Given the description of an element on the screen output the (x, y) to click on. 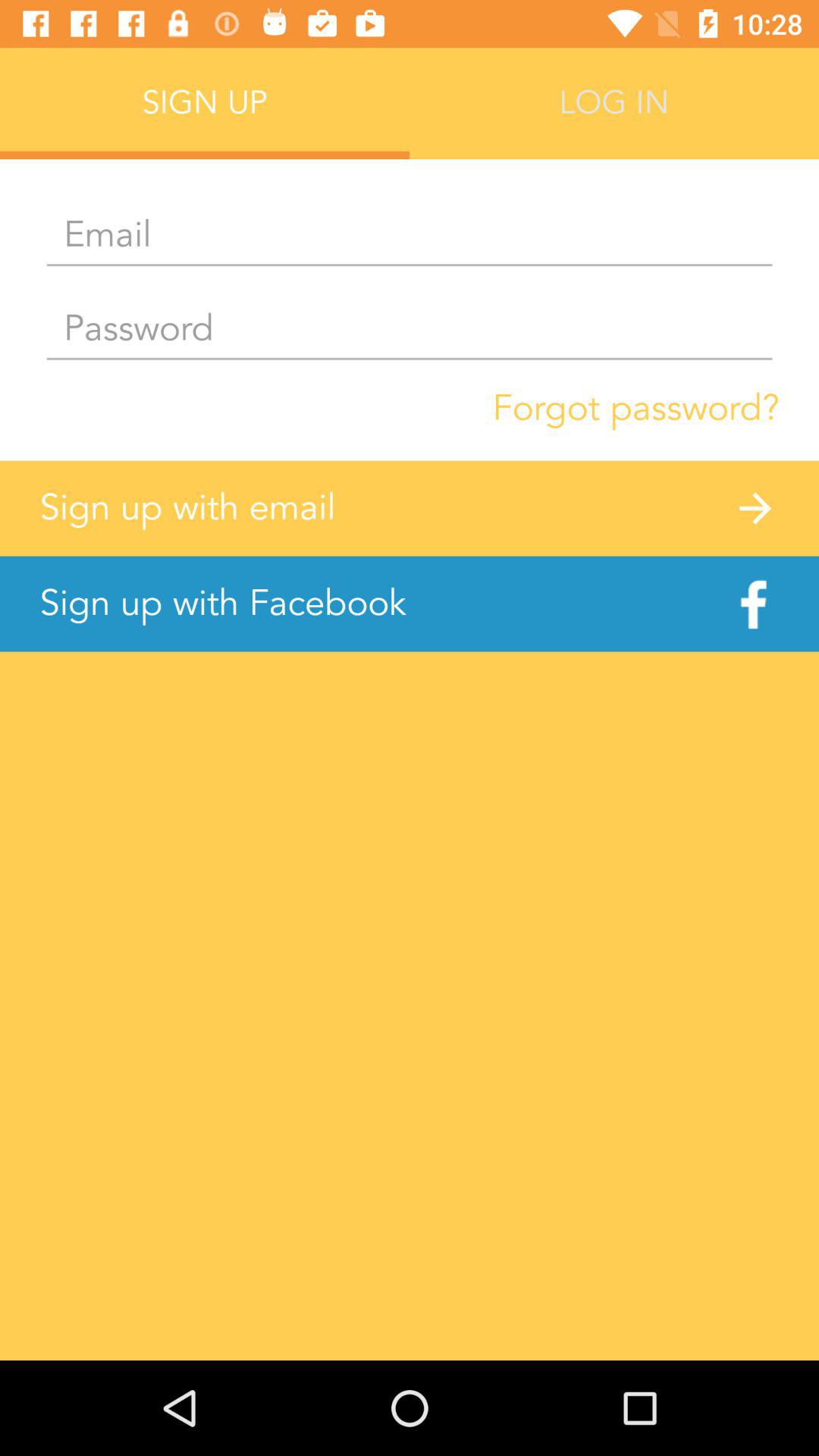
enter email id (409, 236)
